Given the description of an element on the screen output the (x, y) to click on. 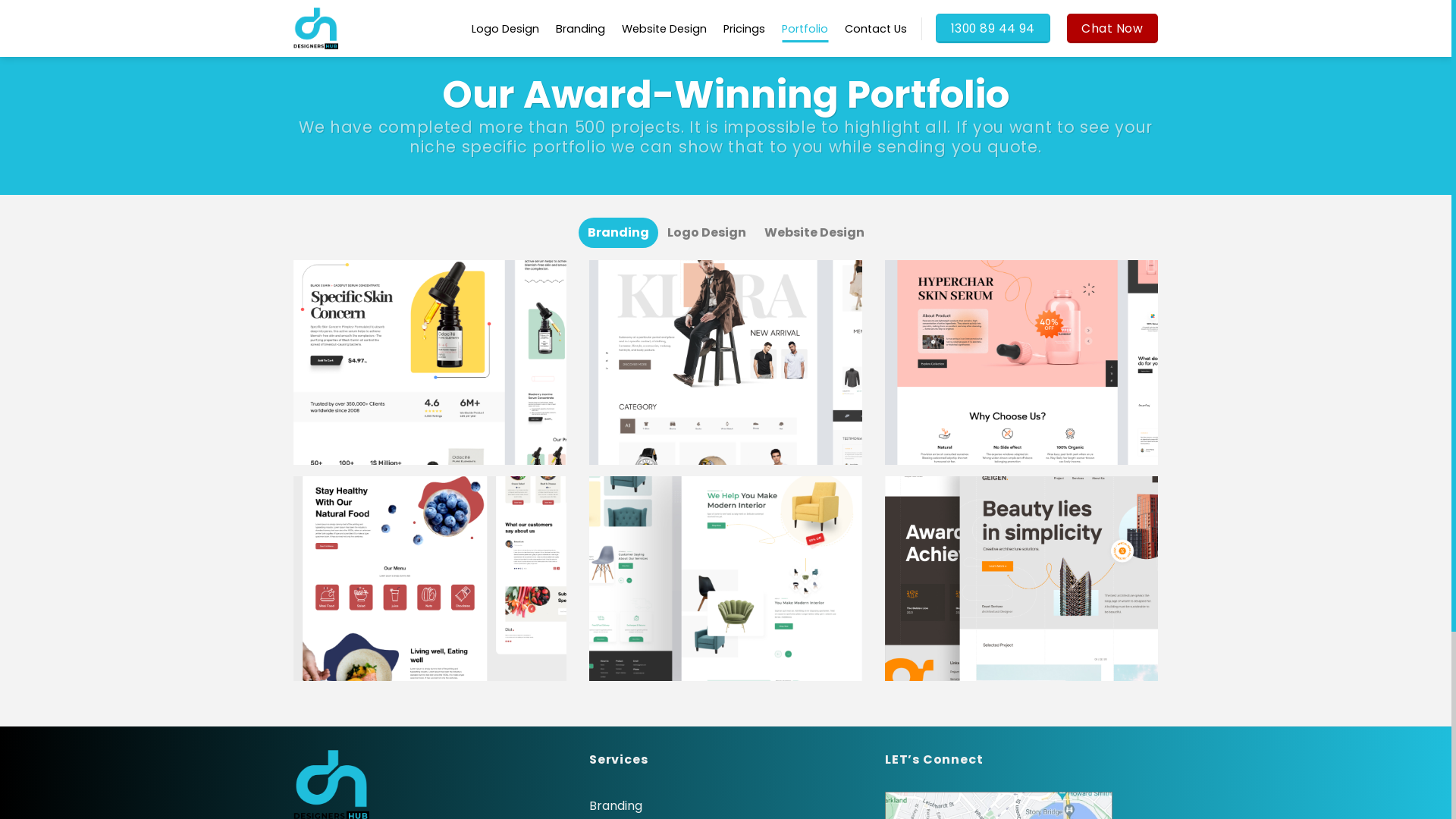
Pricings Element type: text (744, 28)
Branding Element type: text (580, 28)
1300 89 44 94 Element type: text (992, 28)
Website Design Element type: text (663, 28)
Website Design Element type: text (814, 232)
Portfolio Element type: text (804, 28)
Chat Now Element type: text (1111, 28)
Branding Element type: text (617, 232)
Logo Design Element type: text (706, 232)
Designers Hub Element type: hover (331, 28)
Contact Us Element type: text (875, 28)
Logo Design Element type: text (505, 28)
